Given the description of an element on the screen output the (x, y) to click on. 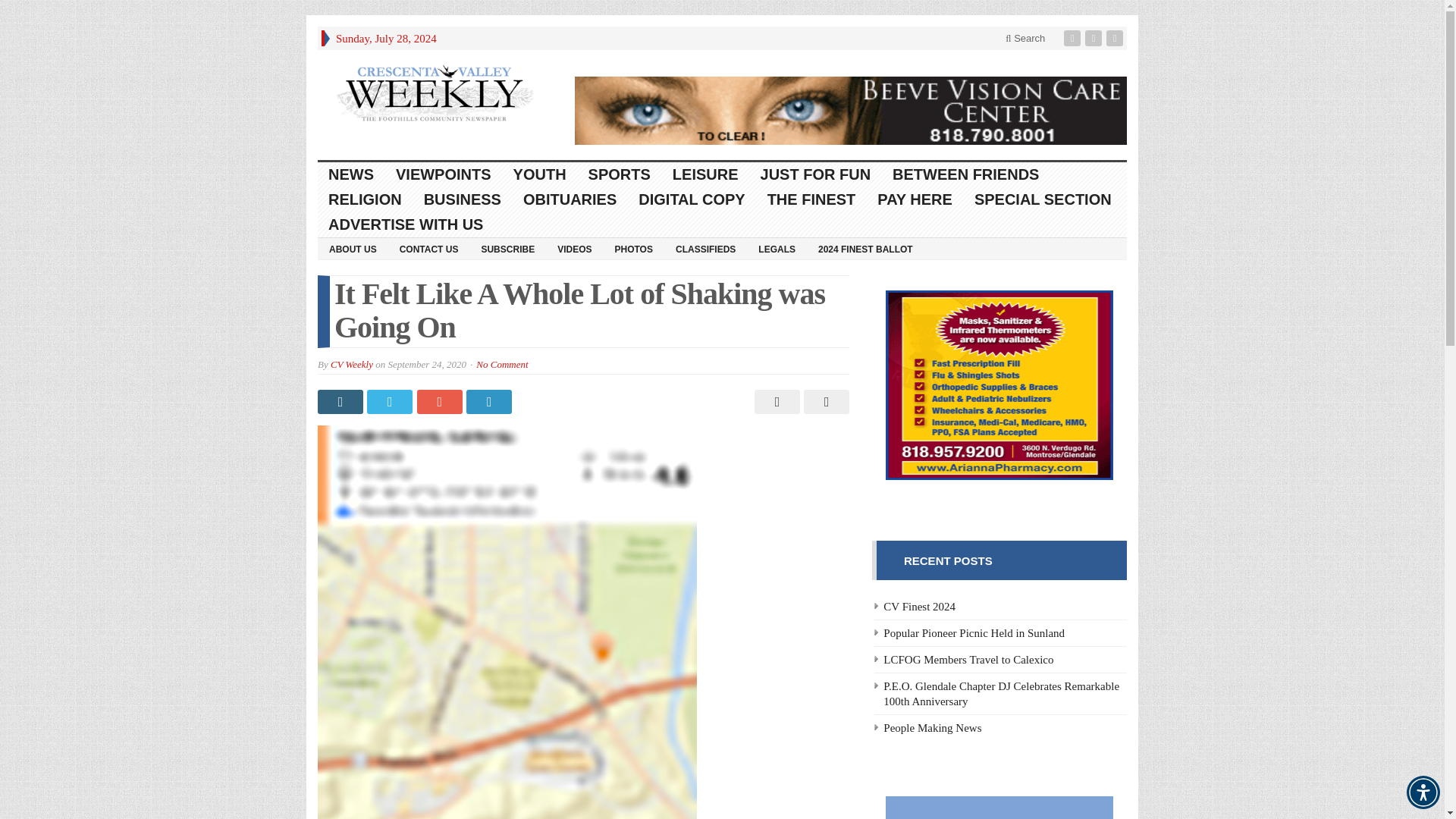
ABOUT US (352, 248)
Search (1024, 37)
SUBSCRIBE (507, 248)
YOUTH (540, 174)
Site feed (1115, 37)
JUST FOR FUN (815, 174)
SPECIAL SECTION (1042, 199)
BETWEEN FRIENDS (965, 174)
2024 FINEST BALLOT (865, 248)
BUSINESS (462, 199)
Beeve Vision Care Center (850, 110)
Twitter (1094, 37)
NEWS (351, 174)
SPORTS (620, 174)
VIEWPOINTS (443, 174)
